Given the description of an element on the screen output the (x, y) to click on. 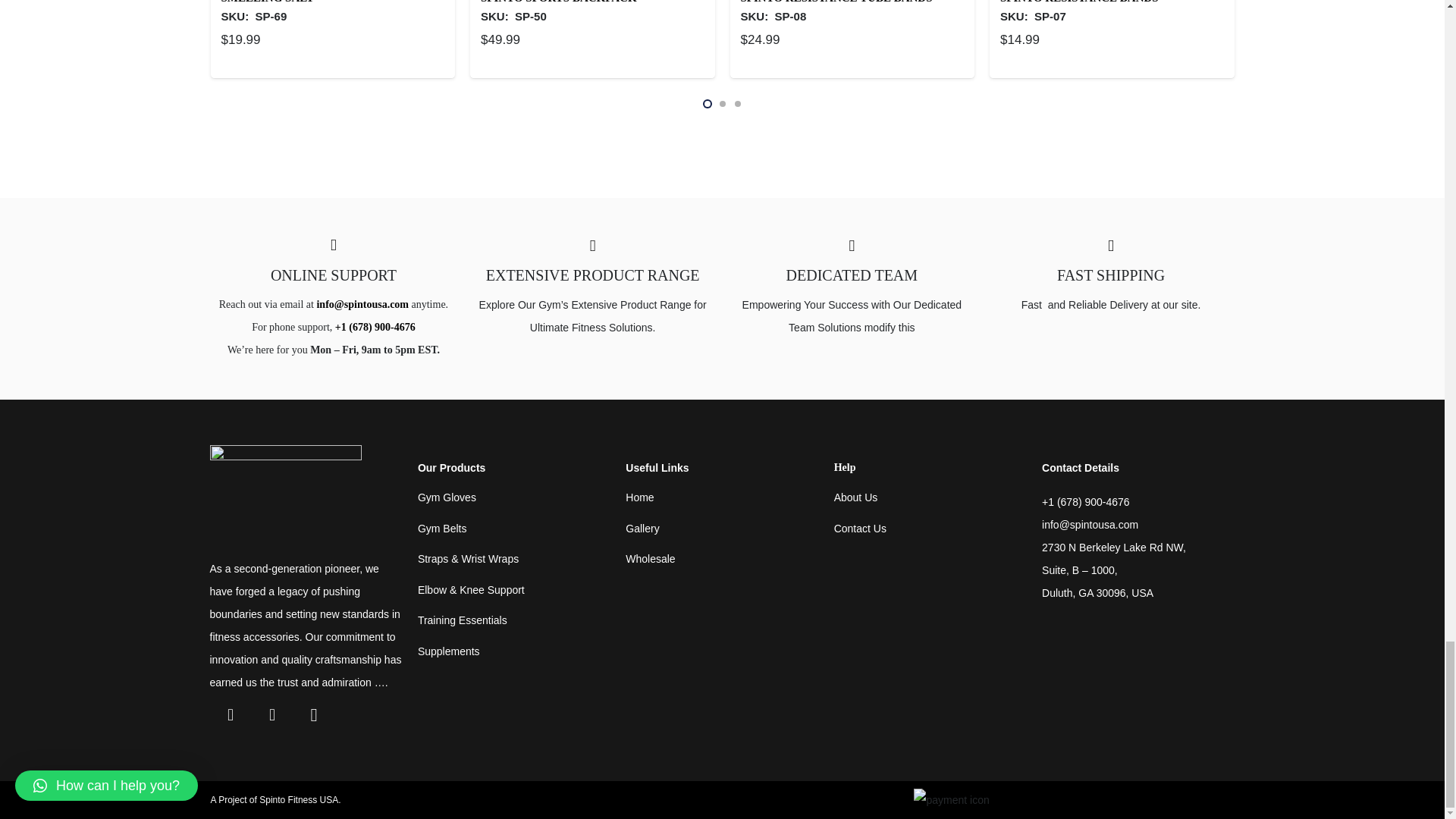
Instagram (313, 714)
Facebook (229, 714)
Twitter (272, 714)
